Given the description of an element on the screen output the (x, y) to click on. 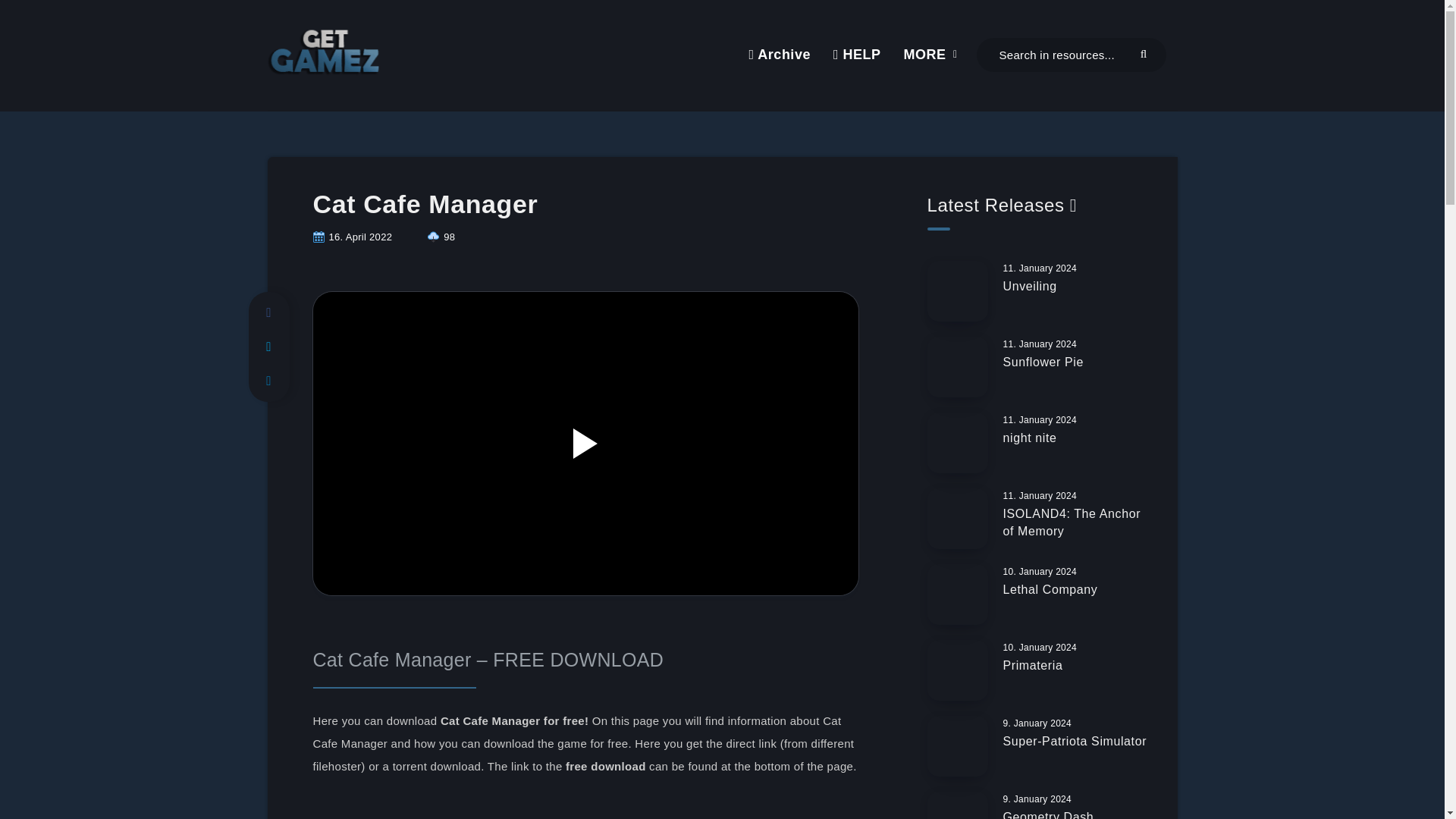
Sunflower Pie (1043, 363)
Archive (778, 54)
Unveiling (1030, 288)
Geometry Dash (1048, 814)
Super-Patriota Simulator (1075, 742)
Lethal Company (1050, 591)
Downloads (441, 236)
Primateria (1032, 667)
Archive (778, 54)
ISOLAND4: The Anchor of Memory (1071, 523)
